Given the description of an element on the screen output the (x, y) to click on. 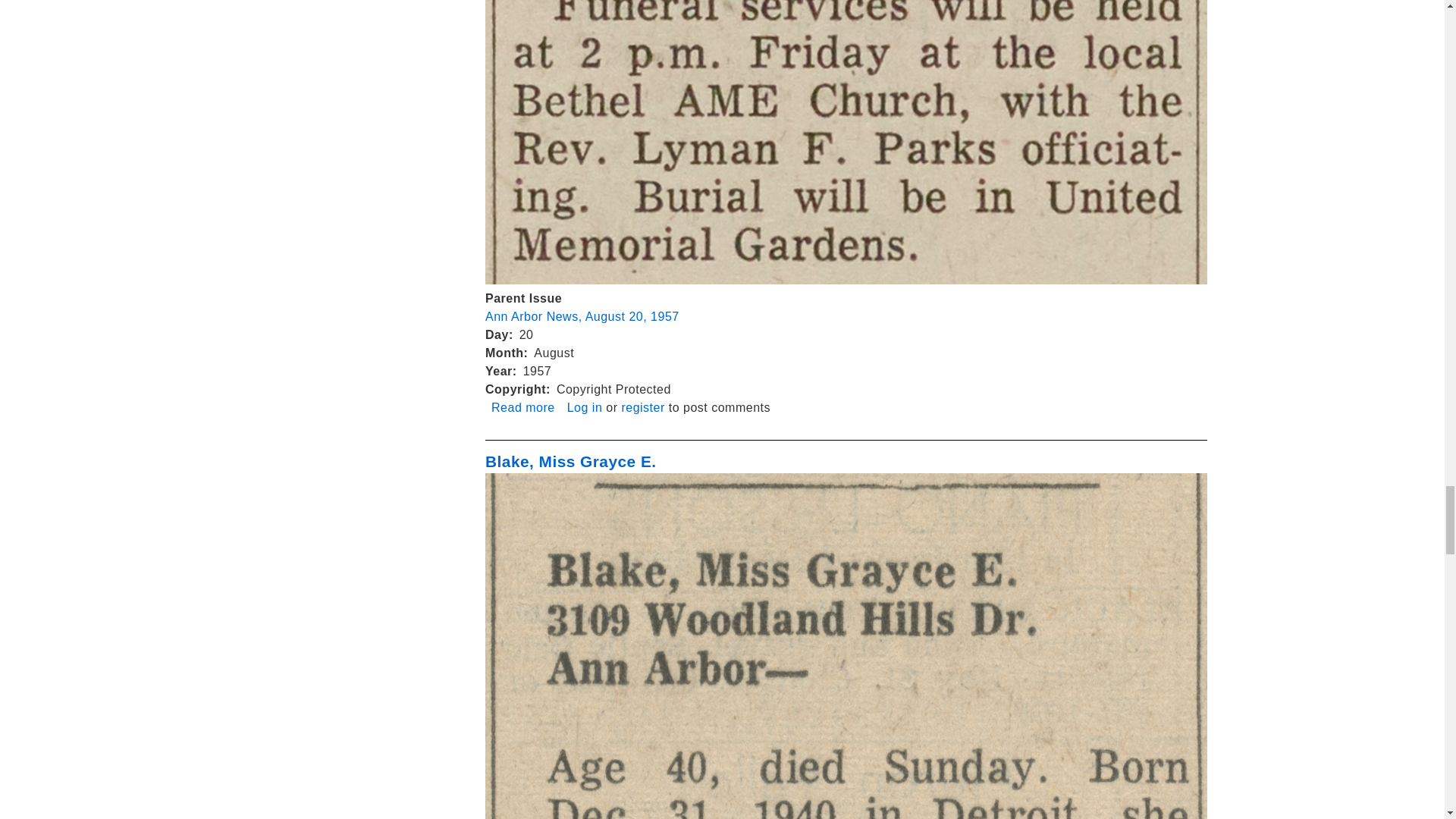
Mrs. David Blake (523, 407)
Blake, Miss Grayce E. (570, 461)
Log in (523, 407)
register (584, 407)
Ann Arbor News, August 20, 1957 (642, 407)
